Given the description of an element on the screen output the (x, y) to click on. 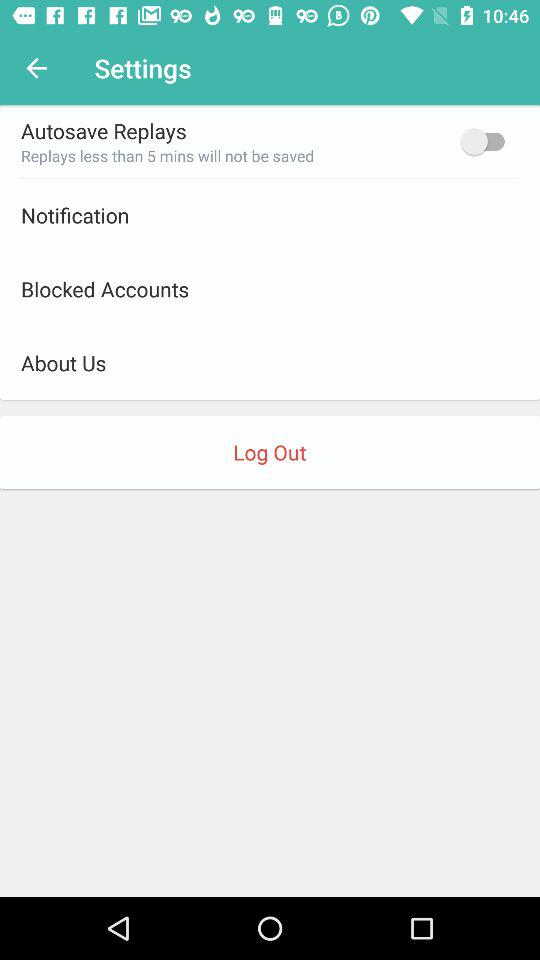
tap item to the left of settings item (36, 68)
